Given the description of an element on the screen output the (x, y) to click on. 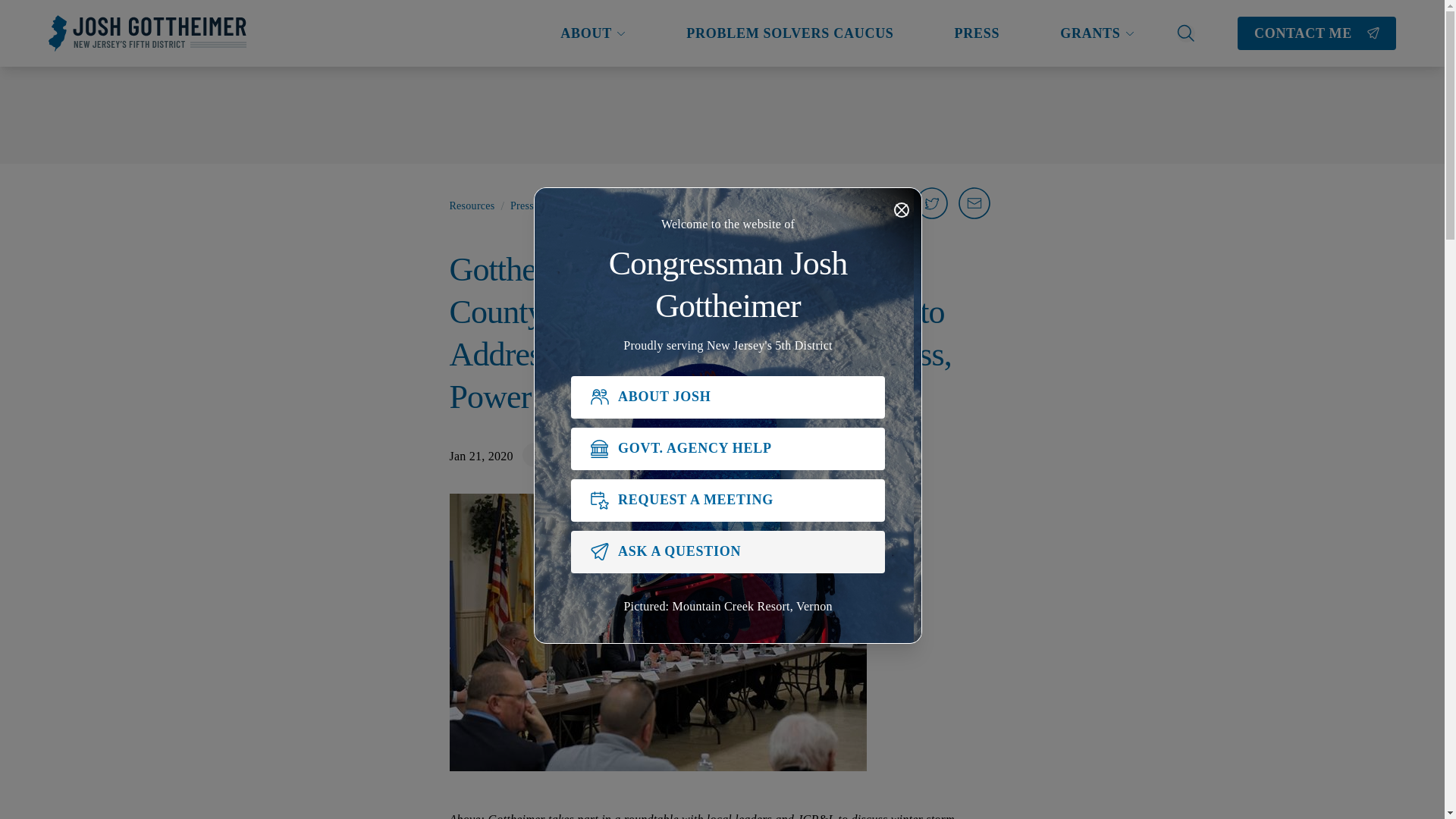
CONTACT ME (1316, 33)
ABOUT (592, 33)
GRANTS (1096, 33)
ABOUT JOSH (727, 396)
CONTACT ME (1316, 32)
Press (555, 456)
PRESS (977, 33)
PROBLEM SOLVERS CAUCUS (789, 33)
REQUEST A MEETING (727, 500)
GOVT. AGENCY HELP (727, 448)
